Given the description of an element on the screen output the (x, y) to click on. 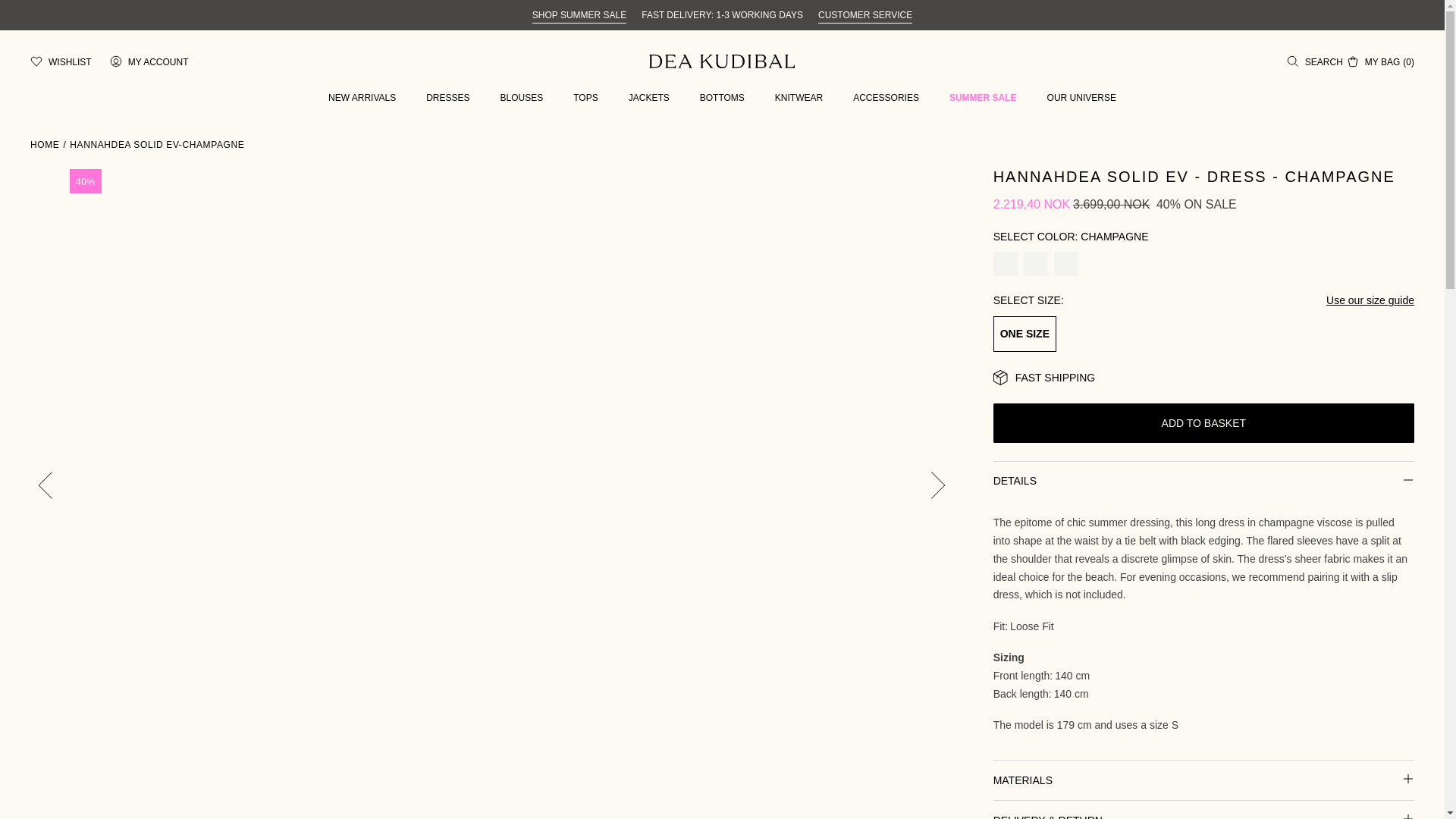
ACCESSORIES (885, 97)
SHOP SUMMER SALE (579, 14)
NEW ARRIVALS (362, 97)
CUSTOMER SERVICE (865, 14)
WISHLIST (60, 61)
SUMMER SALE (982, 97)
TOPS (584, 97)
Home (44, 144)
BOTTOMS (722, 97)
JACKETS (648, 97)
KNITWEAR (798, 97)
MY ACCOUNT (149, 61)
BLOUSES (521, 97)
DRESSES (447, 97)
